Given the description of an element on the screen output the (x, y) to click on. 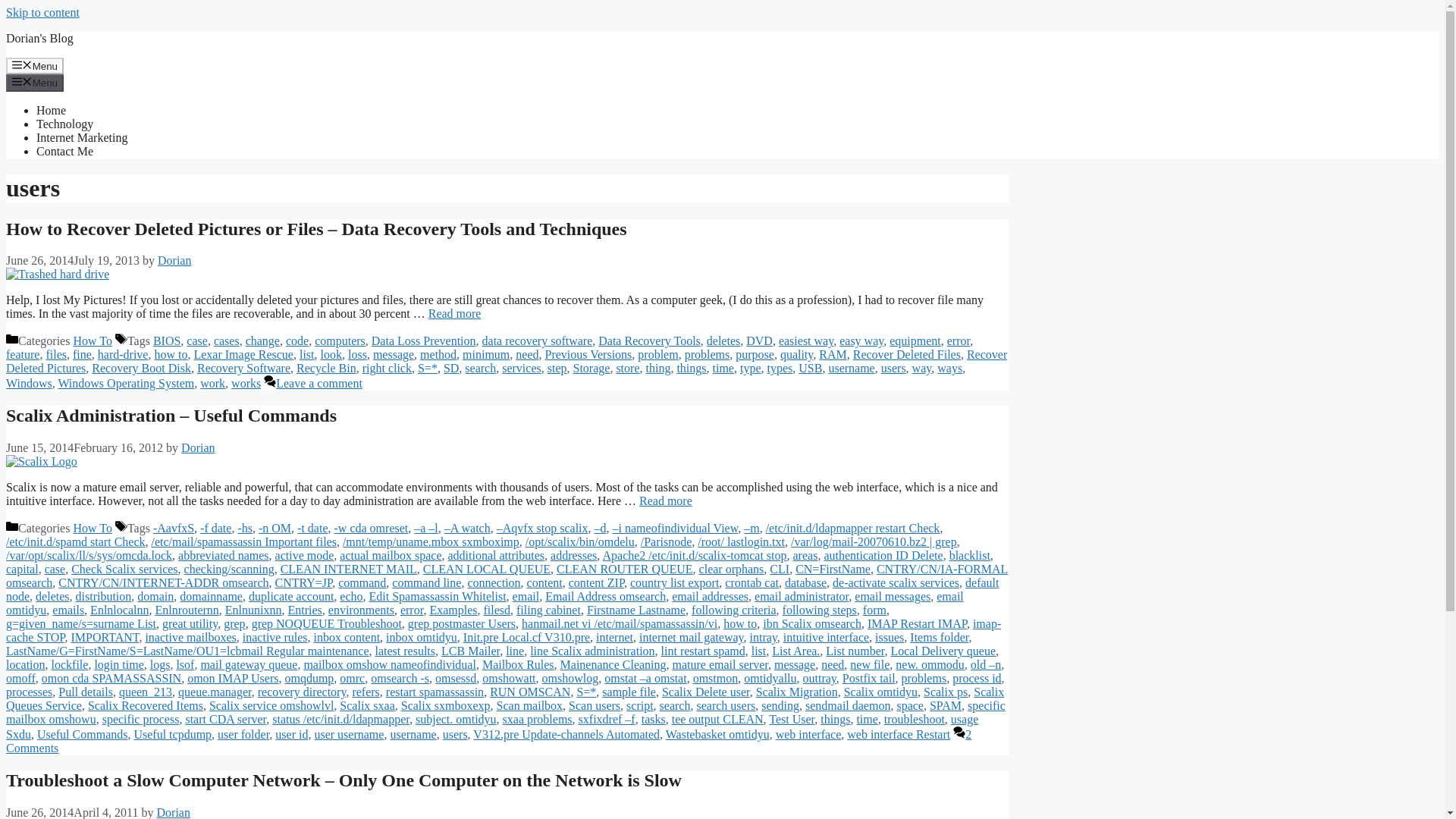
Data Recovery Tools (649, 340)
How To (92, 340)
Dorian (173, 259)
fine (81, 354)
list (306, 354)
BIOS (166, 340)
easiest way (805, 340)
deletes (722, 340)
Read more (454, 313)
message (392, 354)
equipment (914, 340)
method (438, 354)
change (262, 340)
data recovery software (536, 340)
computers (339, 340)
